Given the description of an element on the screen output the (x, y) to click on. 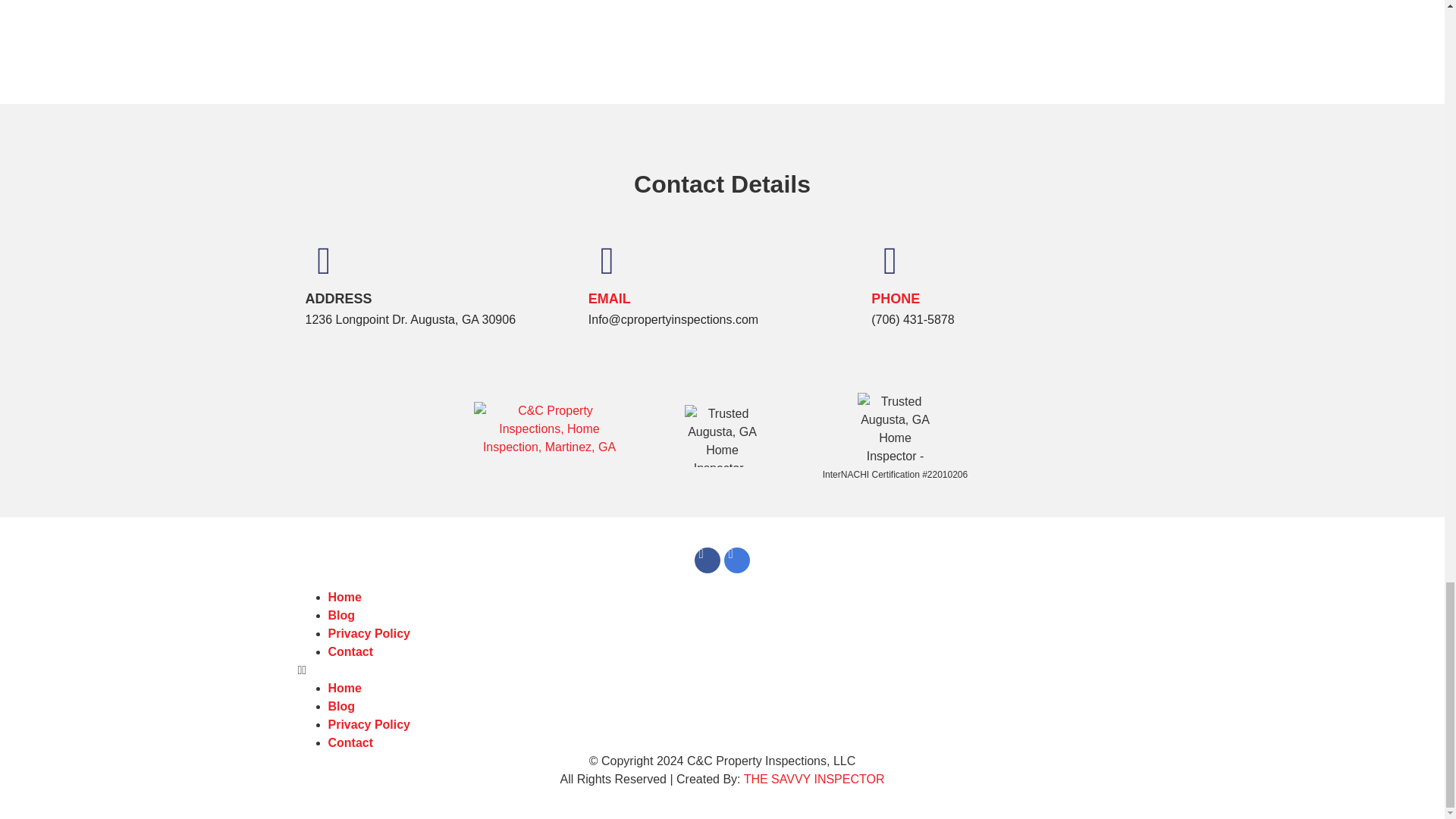
Blog (341, 706)
Home (344, 687)
Contact (349, 651)
Contact (349, 742)
PHONE (895, 298)
Privacy Policy (368, 724)
THE SAVVY INSPECTOR (814, 779)
Blog (341, 615)
Home (344, 596)
Privacy Policy (368, 633)
EMAIL (609, 298)
